Given the description of an element on the screen output the (x, y) to click on. 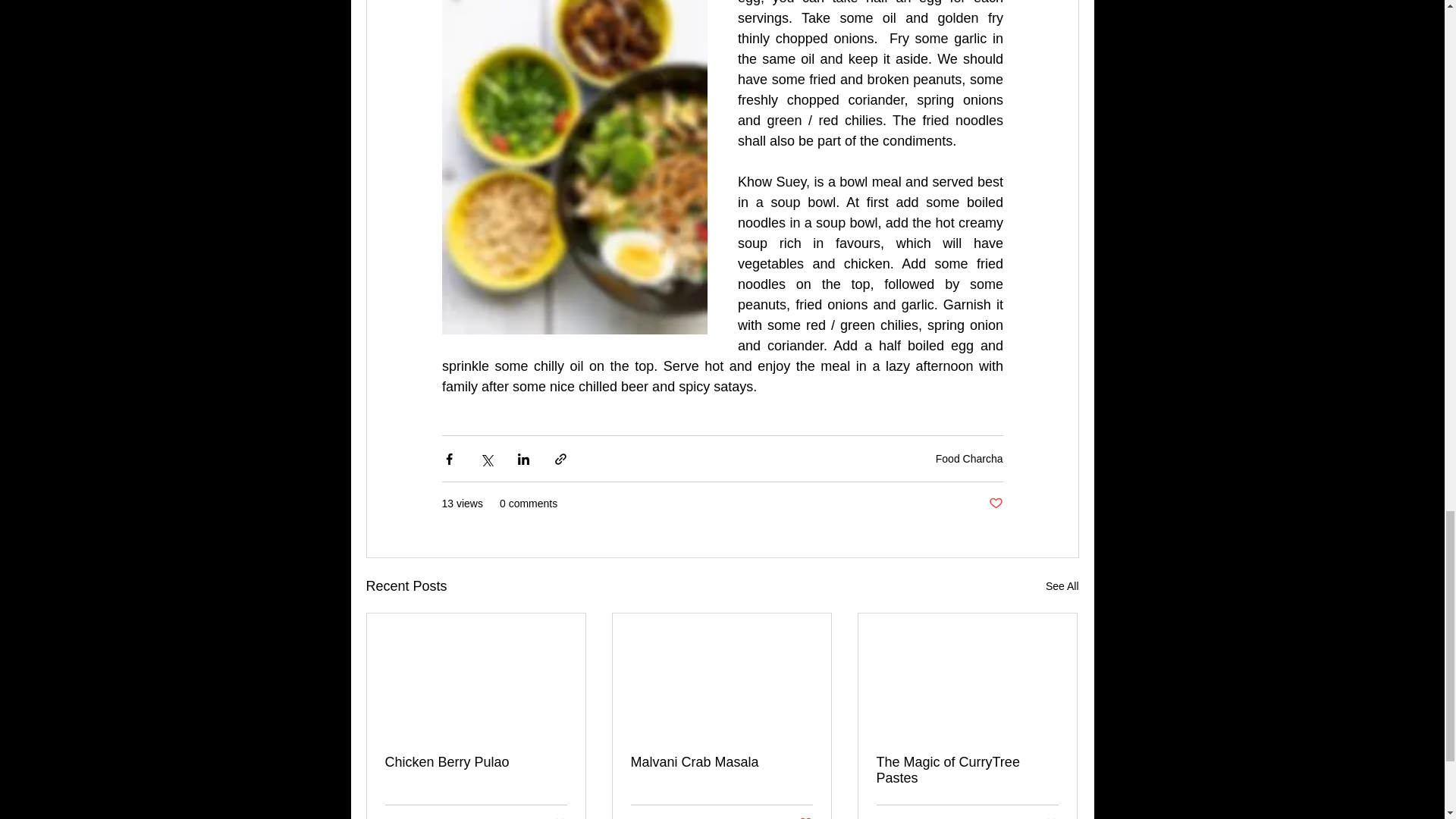
0 (685, 817)
Post not marked as liked (804, 817)
See All (1061, 586)
Malvani Crab Masala (721, 762)
0 (931, 817)
0 (440, 817)
Food Charcha (969, 458)
The Magic of CurryTree Pastes (967, 770)
Post not marked as liked (555, 817)
Chicken Berry Pulao (1046, 817)
